Given the description of an element on the screen output the (x, y) to click on. 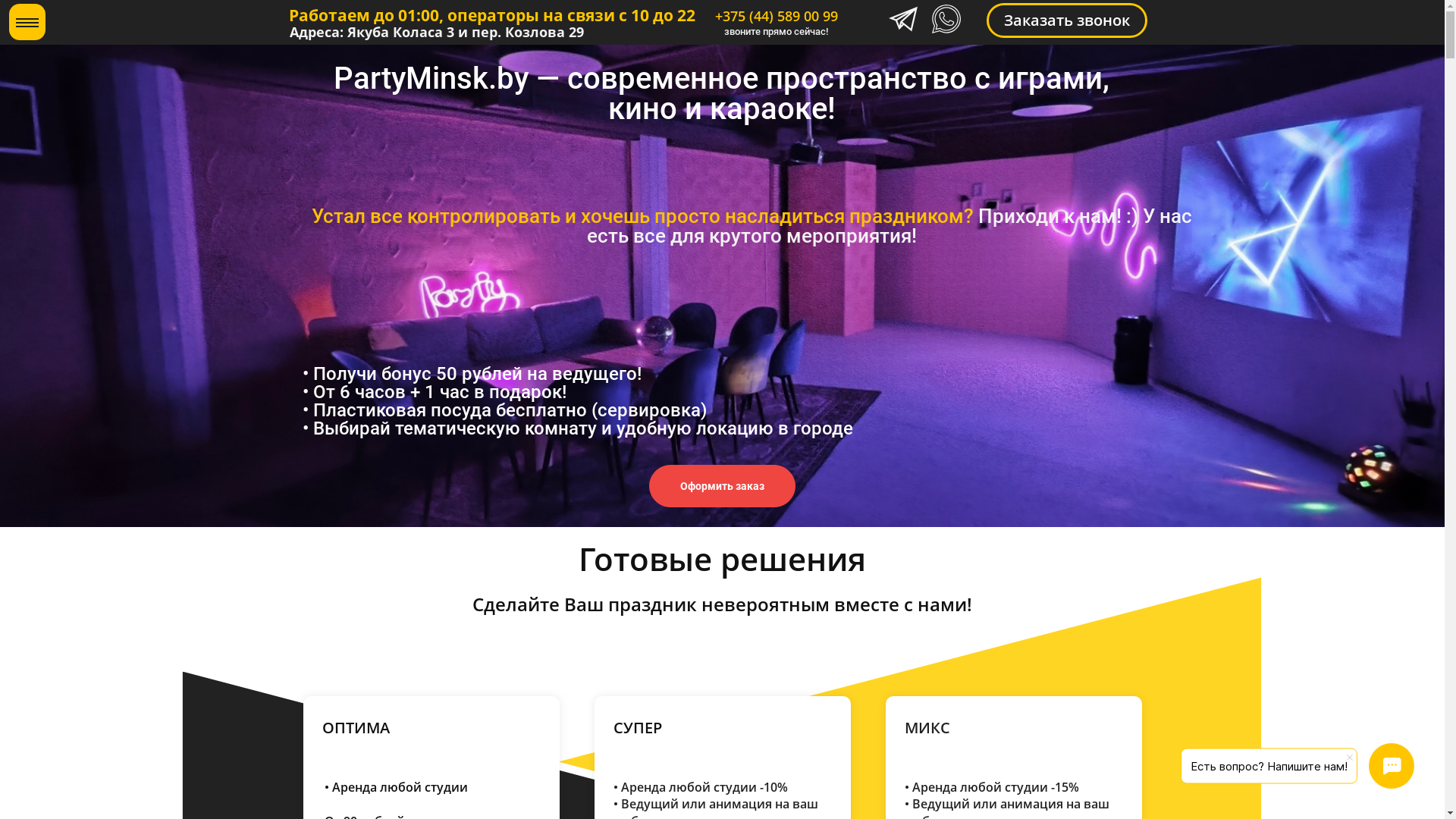
+375 (44) 5 Element type: text (749, 15)
